Given the description of an element on the screen output the (x, y) to click on. 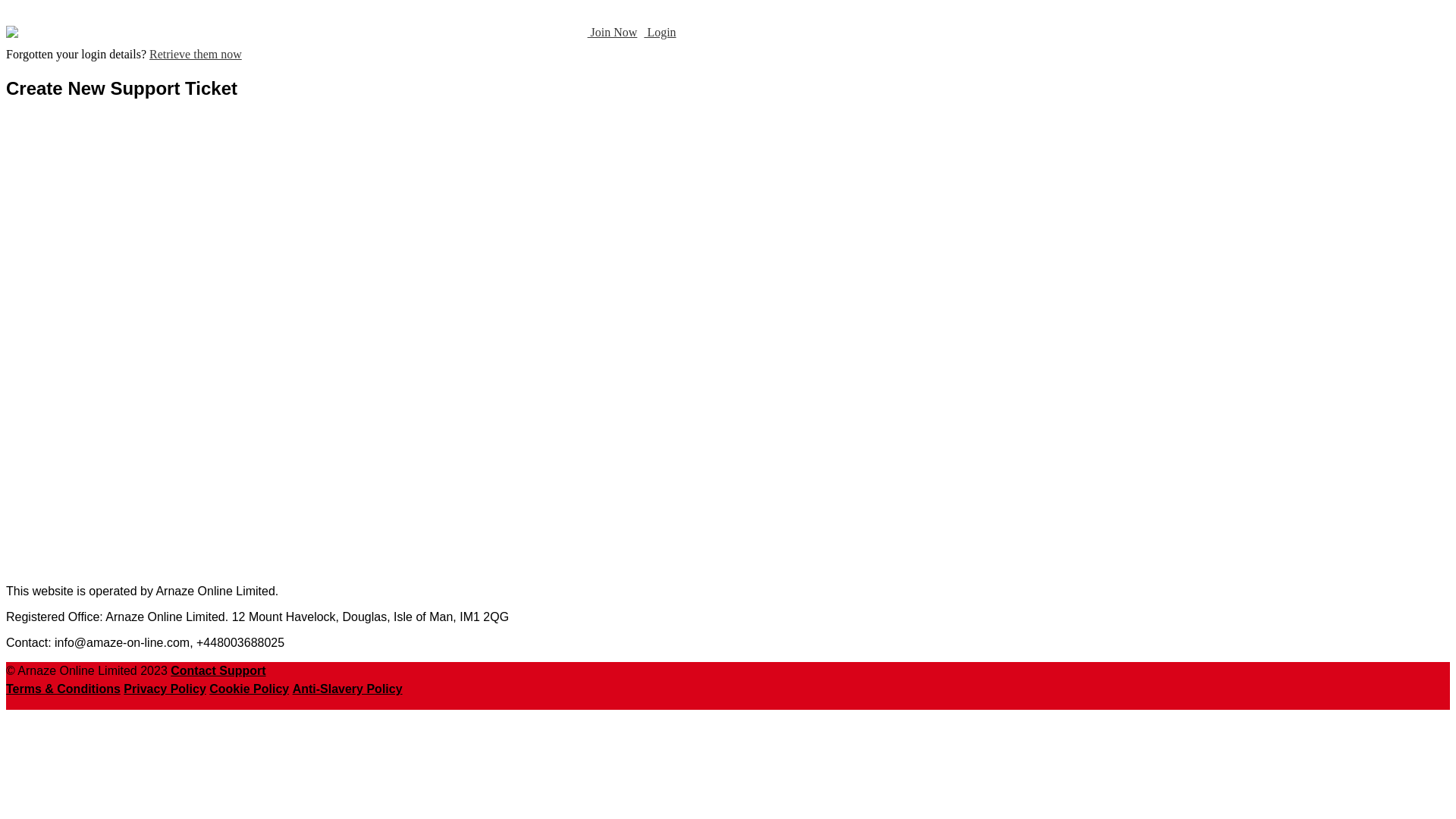
Contact Support Element type: text (217, 670)
Terms & Conditions Element type: text (63, 688)
Privacy Policy Element type: text (164, 688)
 Login Element type: text (659, 31)
 Join Now Element type: text (612, 31)
Cookie Policy Element type: text (248, 688)
Anti-Slavery Policy Element type: text (347, 688)
Retrieve them now Element type: text (195, 53)
